Given the description of an element on the screen output the (x, y) to click on. 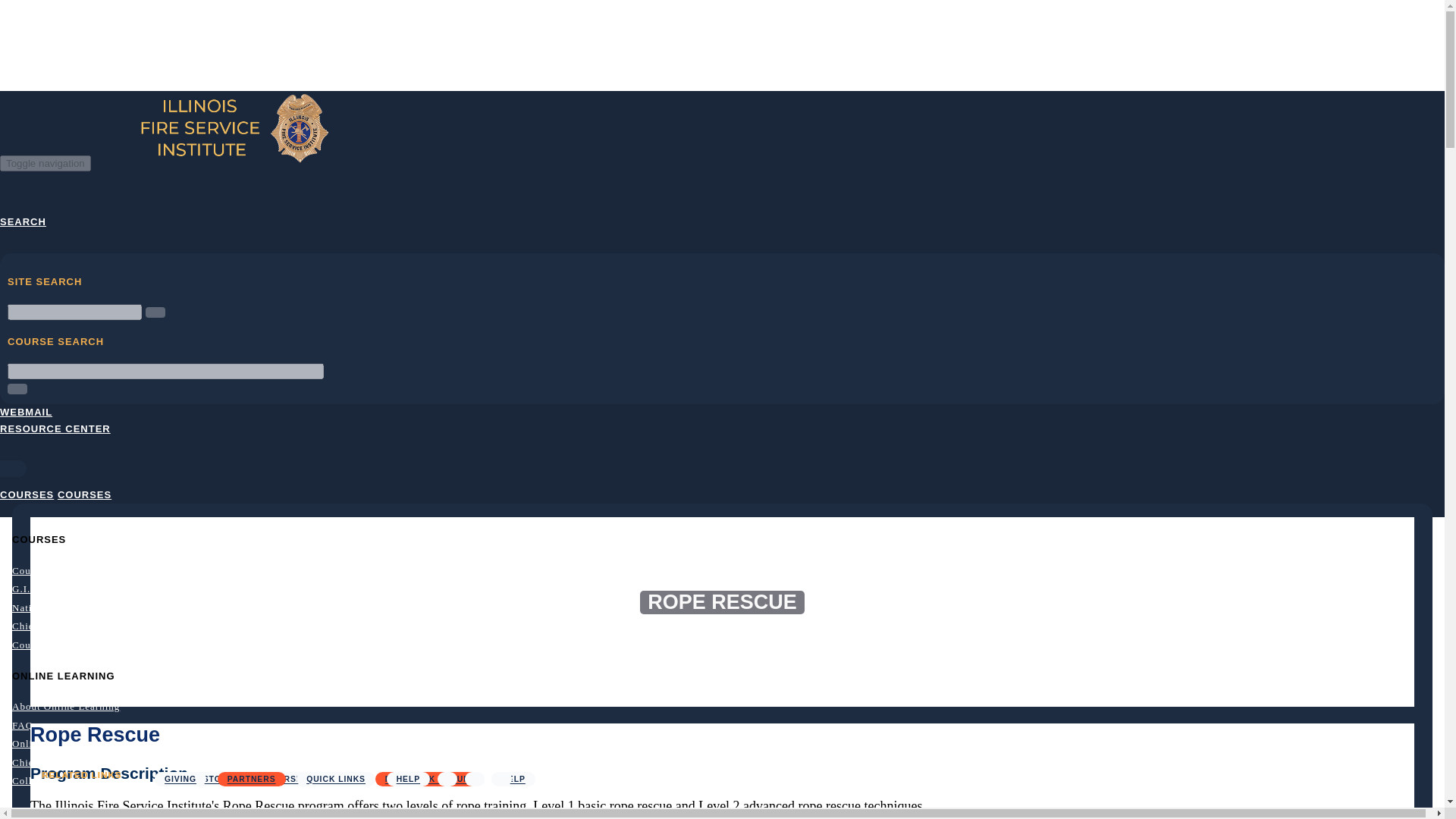
Facebook (447, 779)
SEARCH (23, 221)
Linkedin (502, 779)
Toggle navigation (45, 163)
WEBMAIL (26, 411)
Youtube (474, 779)
RESOURCE CENTER (55, 428)
